Given the description of an element on the screen output the (x, y) to click on. 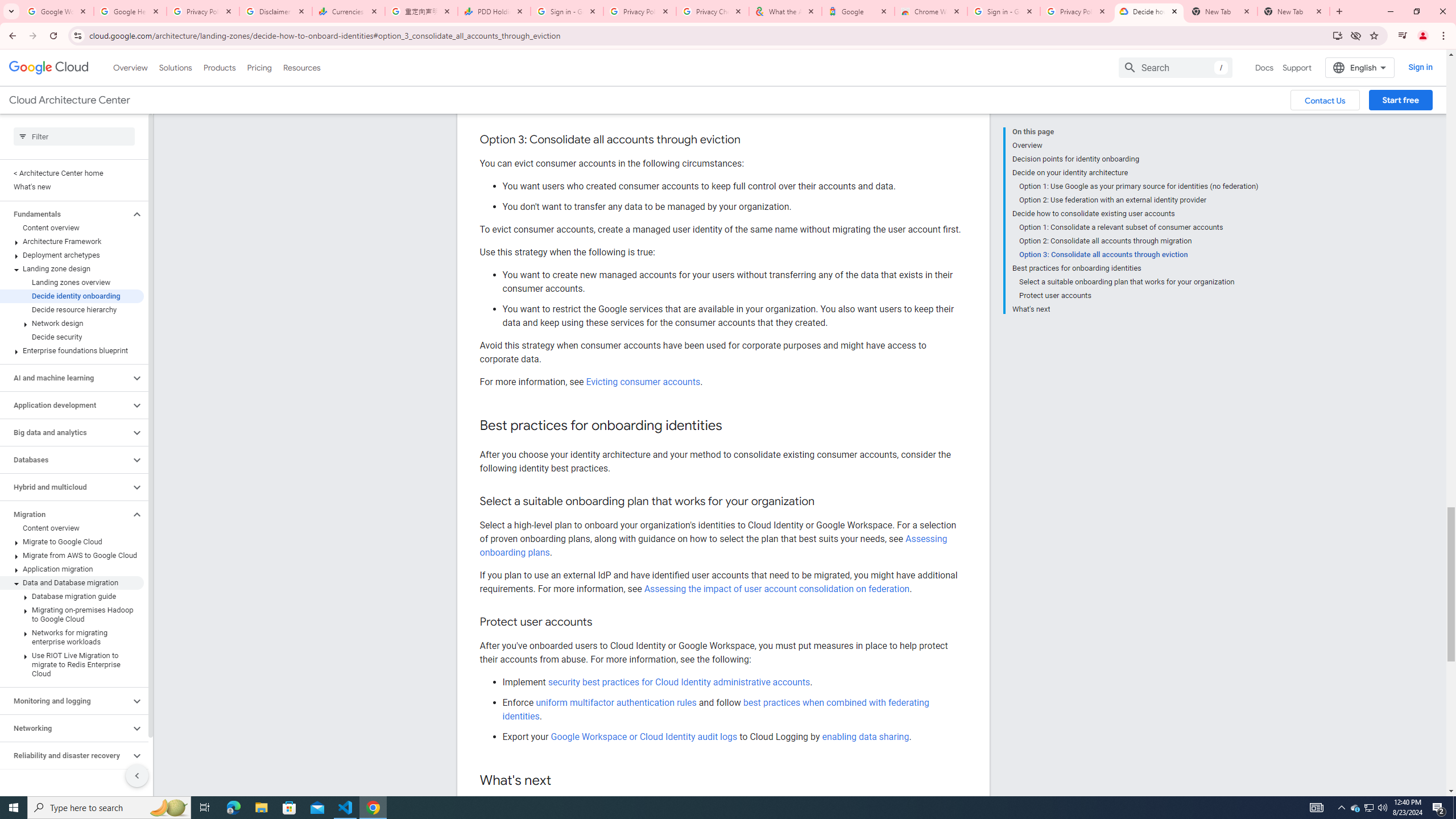
Enterprise foundations blueprint (72, 350)
Networking (64, 728)
PDD Holdings Inc - ADR (PDD) Price & News - Google Finance (493, 11)
English (1359, 67)
Copy link to this section: What's next (563, 780)
Migrating on-premises Hadoop to Google Cloud (72, 614)
Resources (301, 67)
Overview (1134, 145)
Migrate from AWS to Google Cloud (72, 555)
Google Workspace or Cloud Identity audit logs (644, 736)
